Given the description of an element on the screen output the (x, y) to click on. 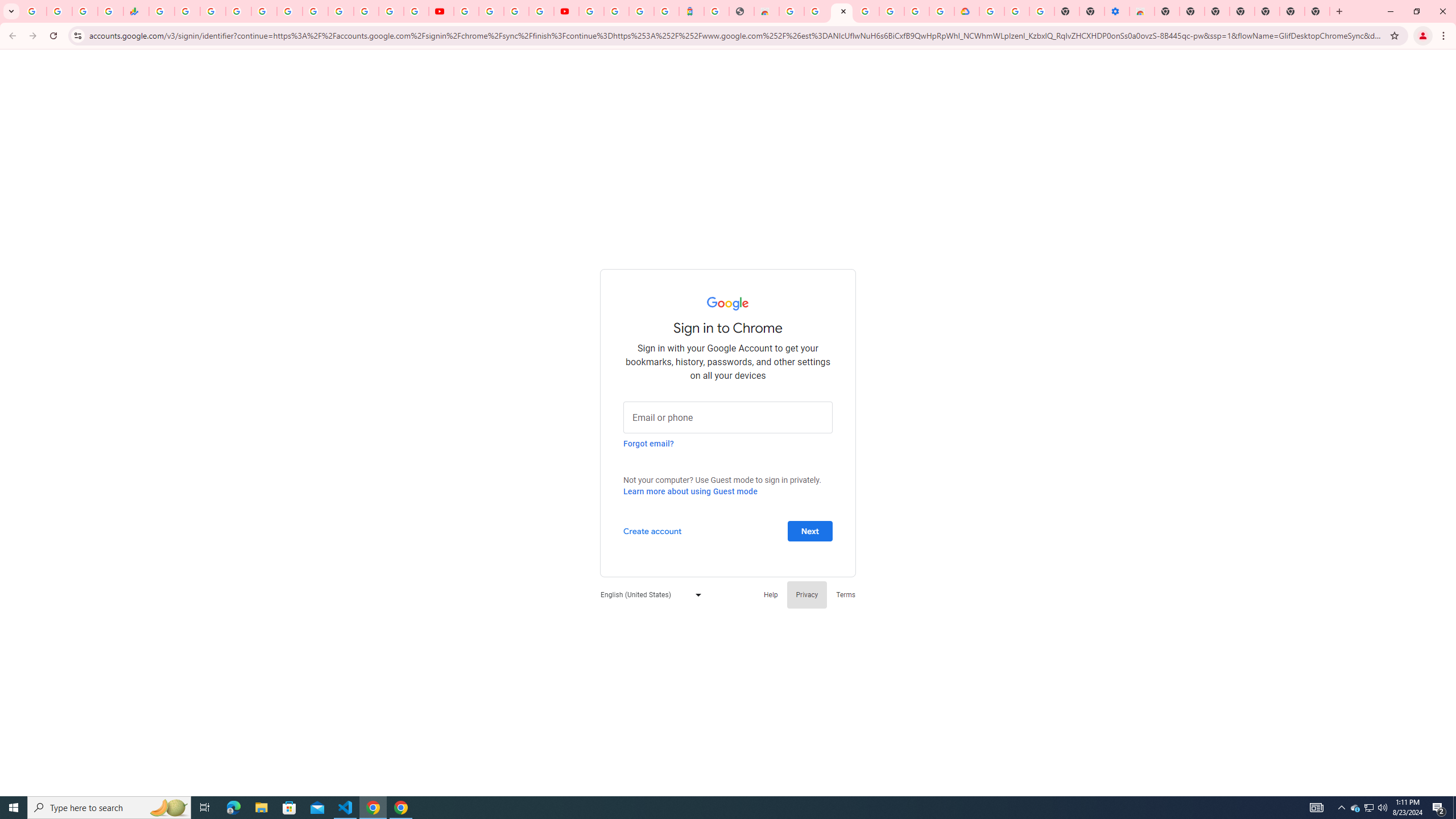
Sign in - Google Accounts (590, 11)
Turn cookies on or off - Computer - Google Account Help (1042, 11)
English (United States) (647, 594)
Privacy Checkup (415, 11)
YouTube (440, 11)
Learn more about using Guest mode (689, 491)
Android TV Policies and Guidelines - Transparency Center (315, 11)
Google Workspace Admin Community (34, 11)
